Given the description of an element on the screen output the (x, y) to click on. 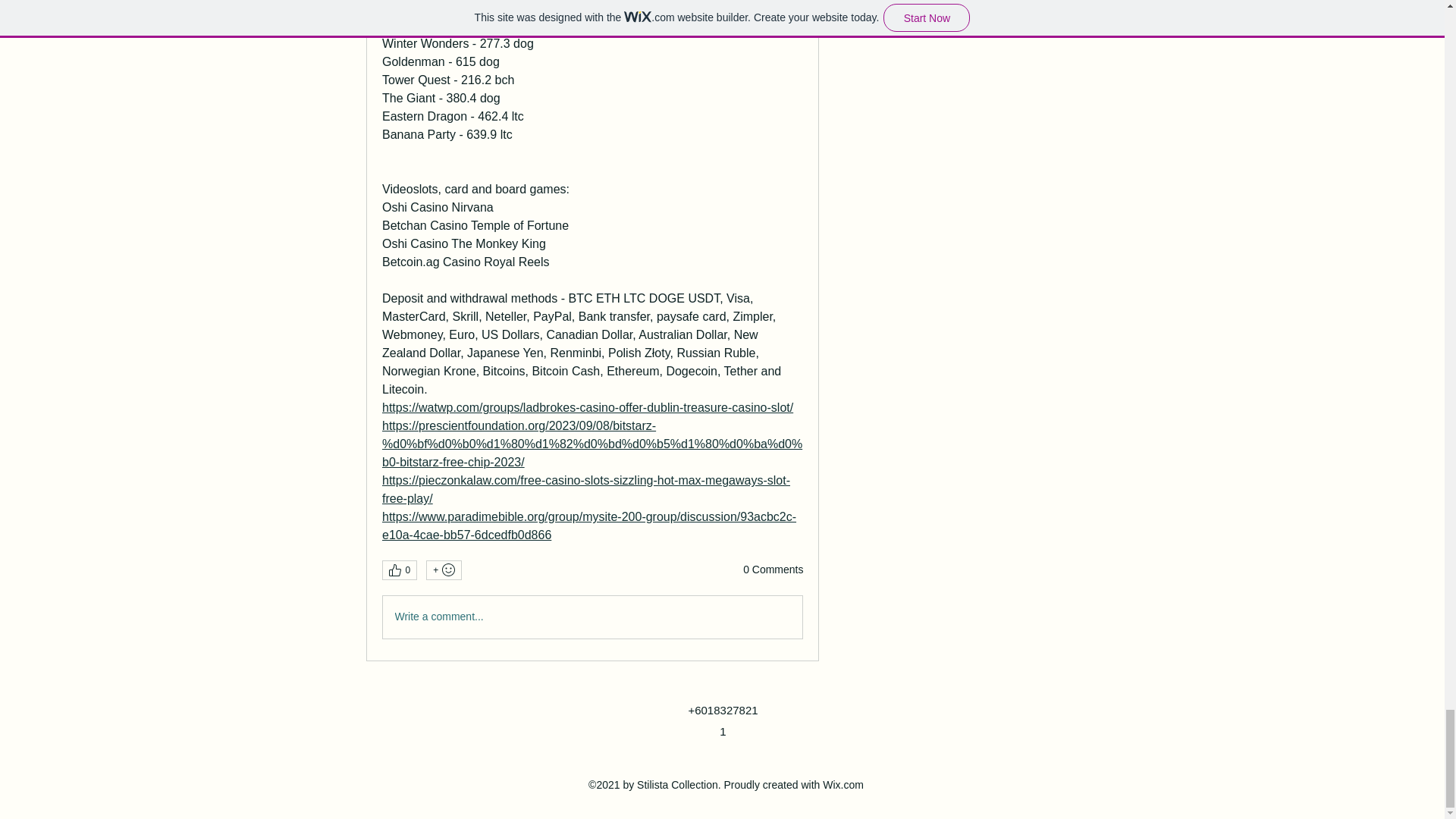
0 Comments (772, 570)
Write a comment... (591, 617)
